Given the description of an element on the screen output the (x, y) to click on. 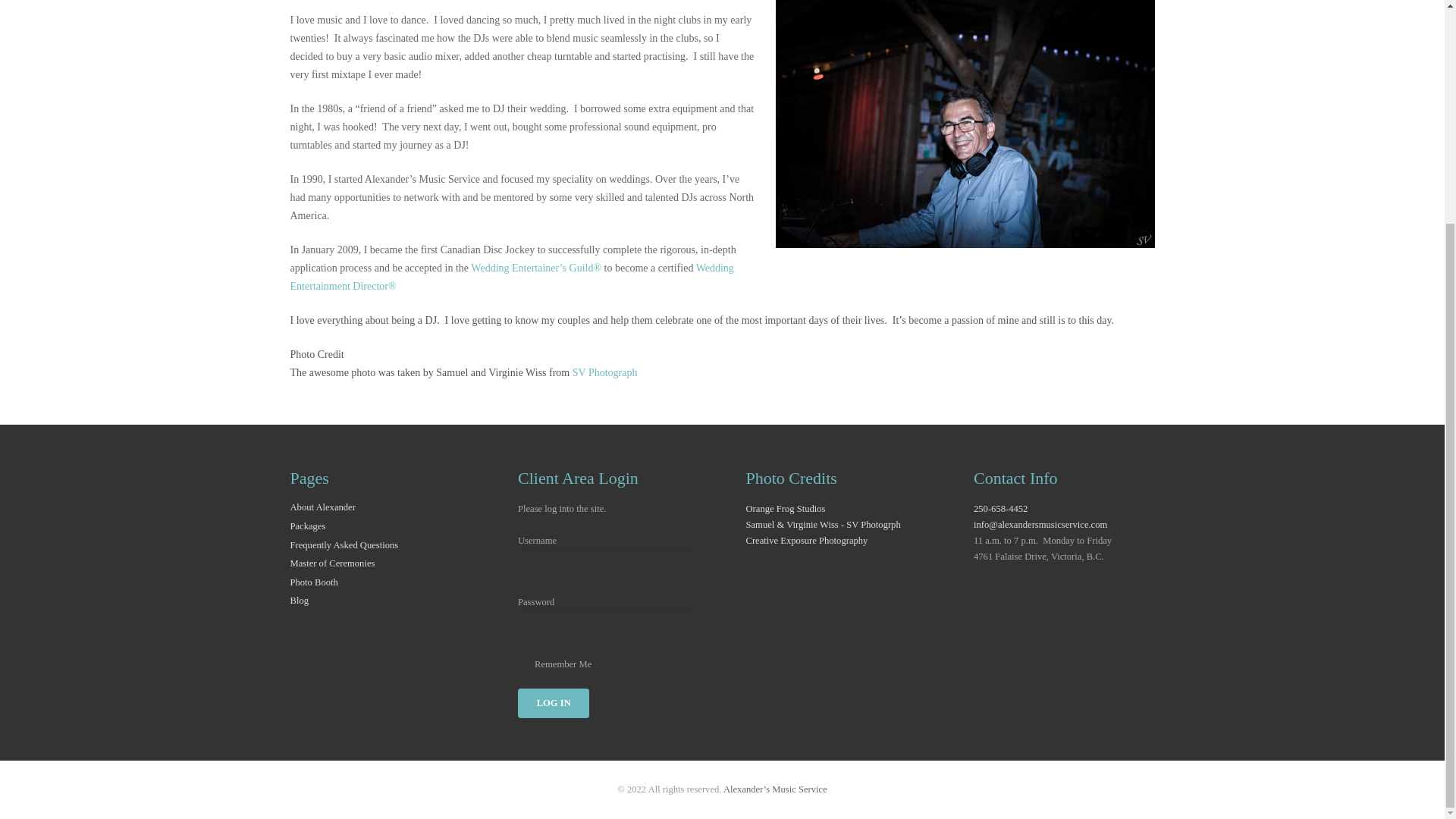
SV Photograph (604, 372)
Master of Ceremonies (331, 562)
Log In (553, 703)
Orange Frog Studios (785, 508)
Log In (553, 703)
250-658-4452 (1000, 508)
Packages (306, 525)
Photo Booth (313, 582)
Blog (298, 600)
Frequently Asked Questions (343, 544)
Creative Exposure Photography (806, 540)
forever (523, 663)
About Alexander (322, 507)
